Given the description of an element on the screen output the (x, y) to click on. 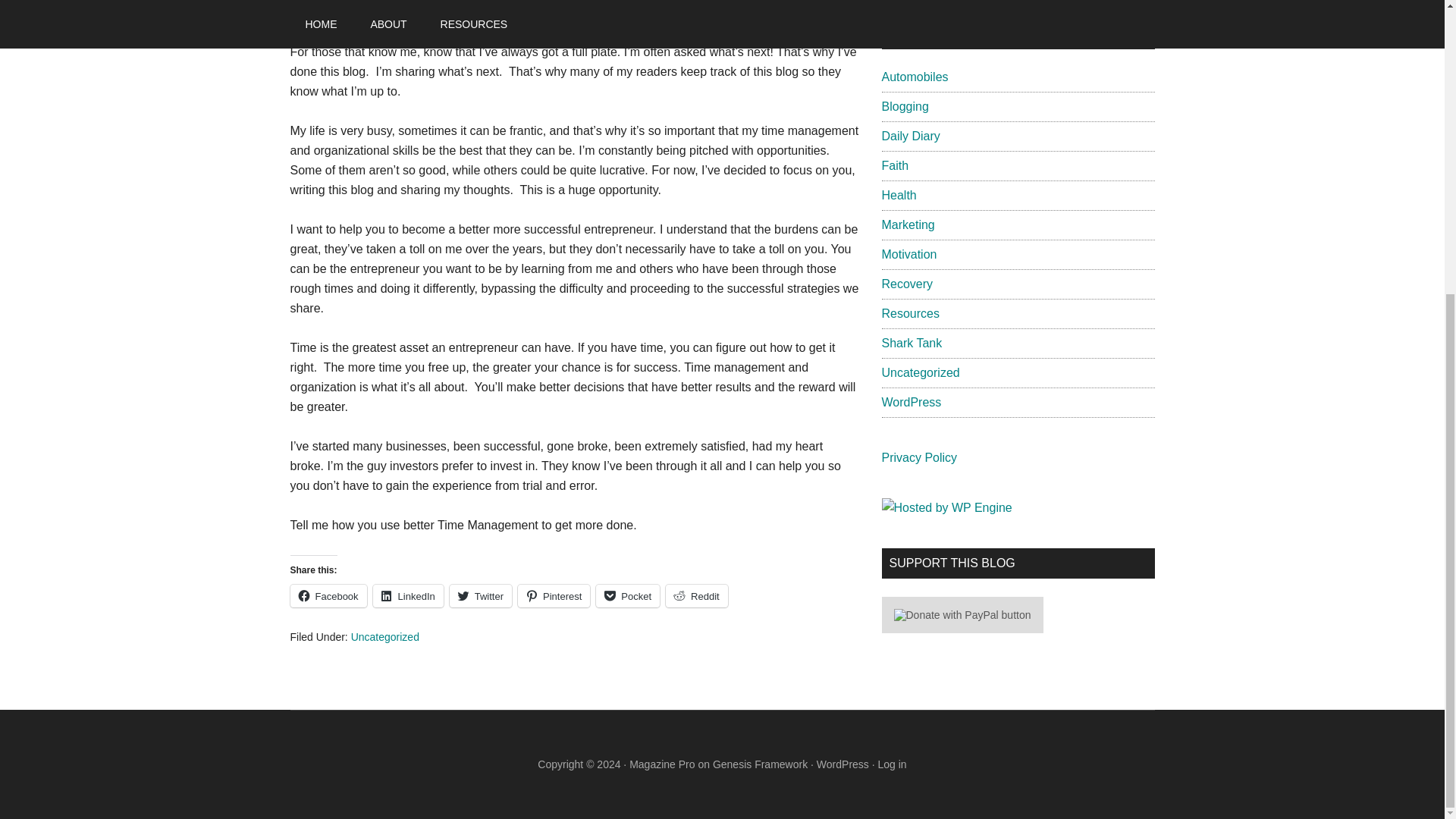
Click to share on Pocket (627, 595)
Magazine Pro (661, 764)
Pinterest (553, 595)
Health (897, 195)
Uncategorized (384, 636)
Daily Diary (909, 135)
Facebook (327, 595)
Shark Tank (911, 342)
LinkedIn (408, 595)
WordPress (910, 401)
